Given the description of an element on the screen output the (x, y) to click on. 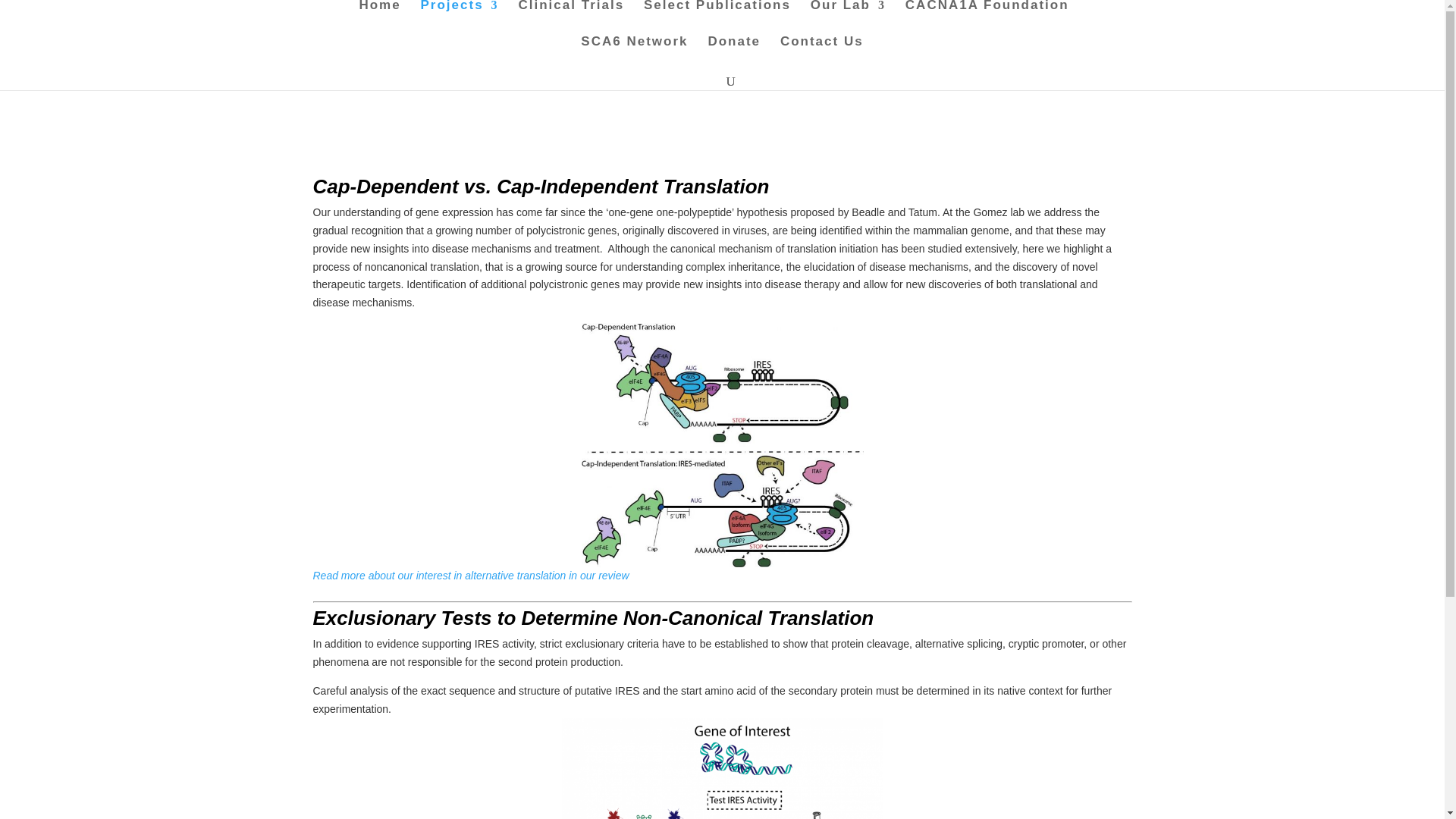
Home (379, 18)
CACNA1A Foundation (986, 18)
Select Publications (716, 18)
Contact Us (821, 54)
Our Lab (847, 18)
Clinical Trials (571, 18)
Donate (733, 54)
Projects (459, 18)
SCA6 Network (633, 54)
